Given the description of an element on the screen output the (x, y) to click on. 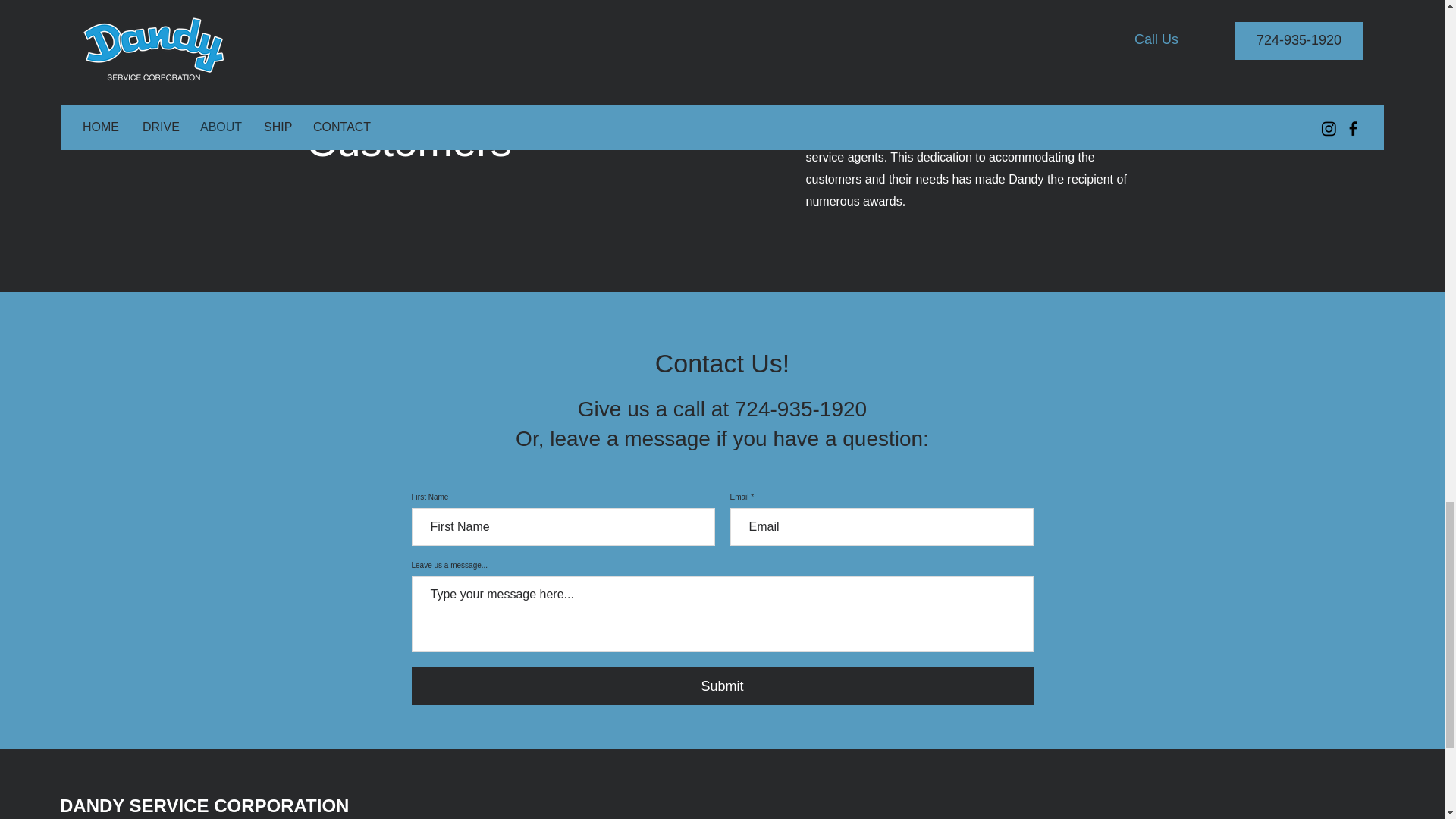
DANDY SERVICE CORPORATION (204, 805)
Submit (721, 686)
